Given the description of an element on the screen output the (x, y) to click on. 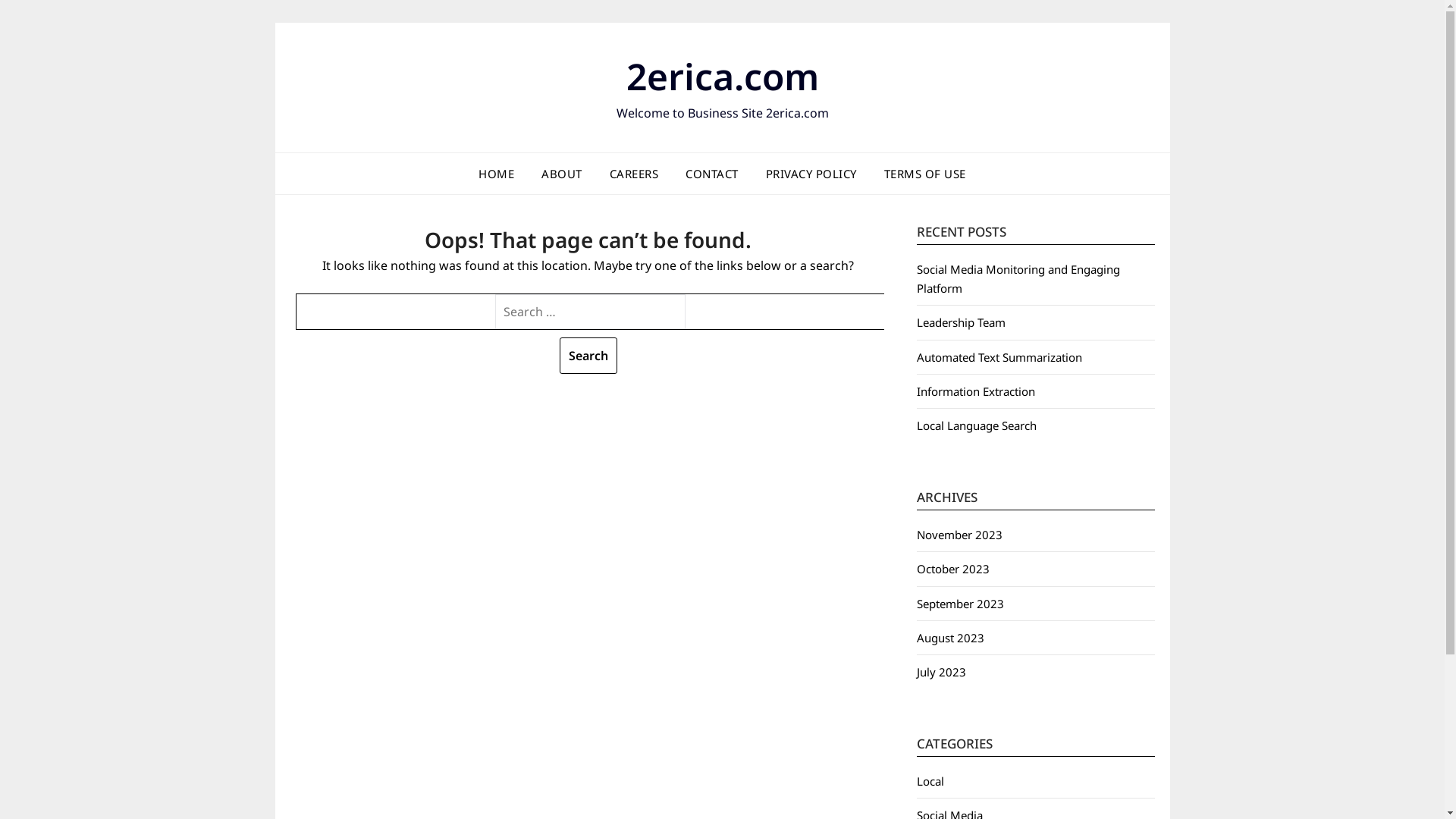
2erica.com Element type: text (722, 75)
Social Media Monitoring and Engaging Platform Element type: text (1017, 277)
PRIVACY POLICY Element type: text (811, 173)
August 2023 Element type: text (949, 637)
November 2023 Element type: text (958, 534)
October 2023 Element type: text (952, 568)
TERMS OF USE Element type: text (925, 173)
Leadership Team Element type: text (960, 321)
Local Language Search Element type: text (975, 425)
CONTACT Element type: text (711, 173)
Automated Text Summarization Element type: text (998, 356)
July 2023 Element type: text (940, 671)
ABOUT Element type: text (561, 173)
September 2023 Element type: text (959, 603)
Search Element type: text (588, 355)
Local Element type: text (929, 780)
Information Extraction Element type: text (975, 390)
HOME Element type: text (496, 173)
CAREERS Element type: text (634, 173)
